Given the description of an element on the screen output the (x, y) to click on. 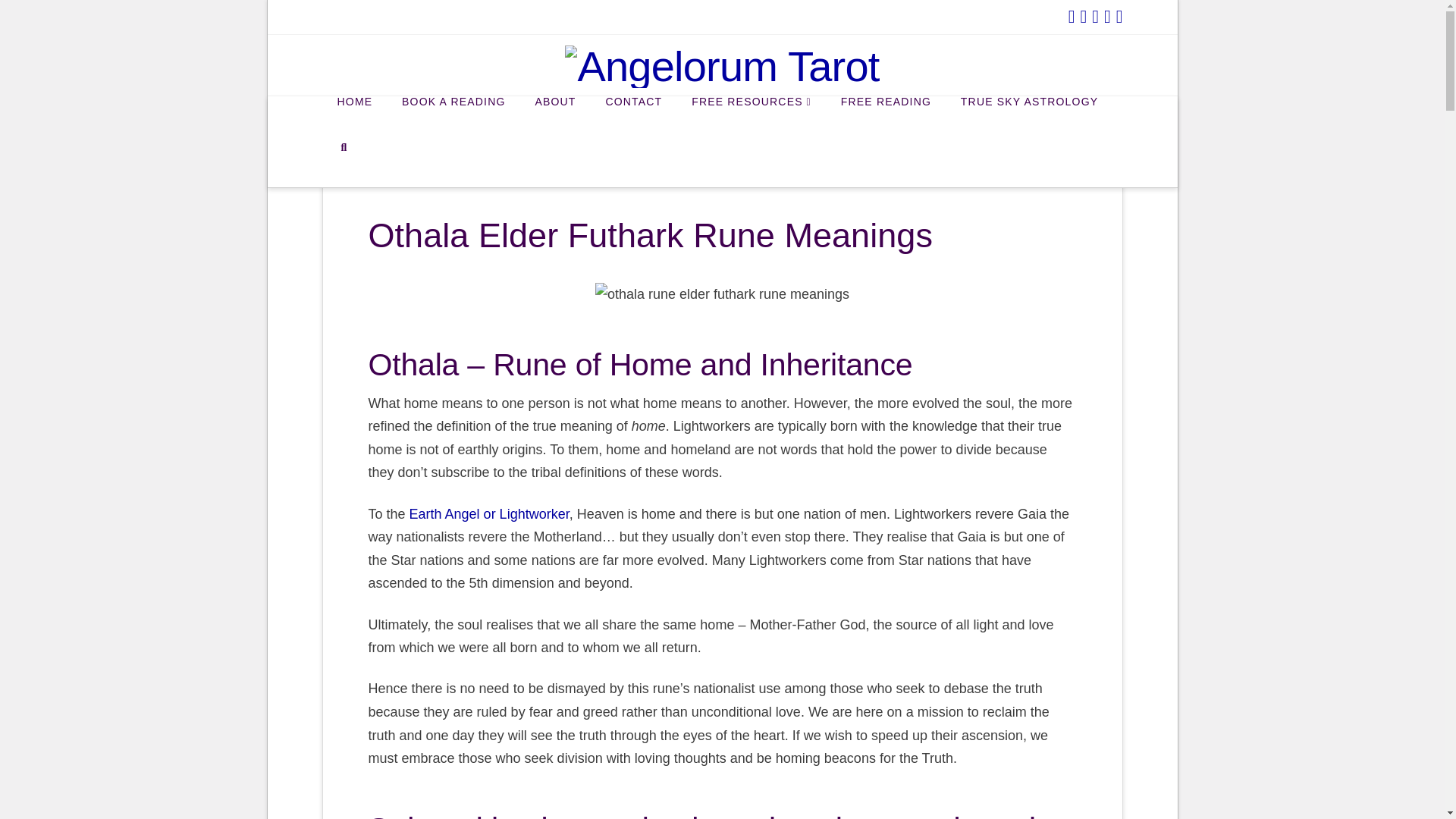
BOOK A READING (453, 118)
ABOUT (554, 118)
Earth Angel or Lightworker (489, 513)
CONTACT (633, 118)
HOME (354, 118)
FREE READING (884, 118)
FREE RESOURCES (751, 118)
TRUE SKY ASTROLOGY (1028, 118)
